Given the description of an element on the screen output the (x, y) to click on. 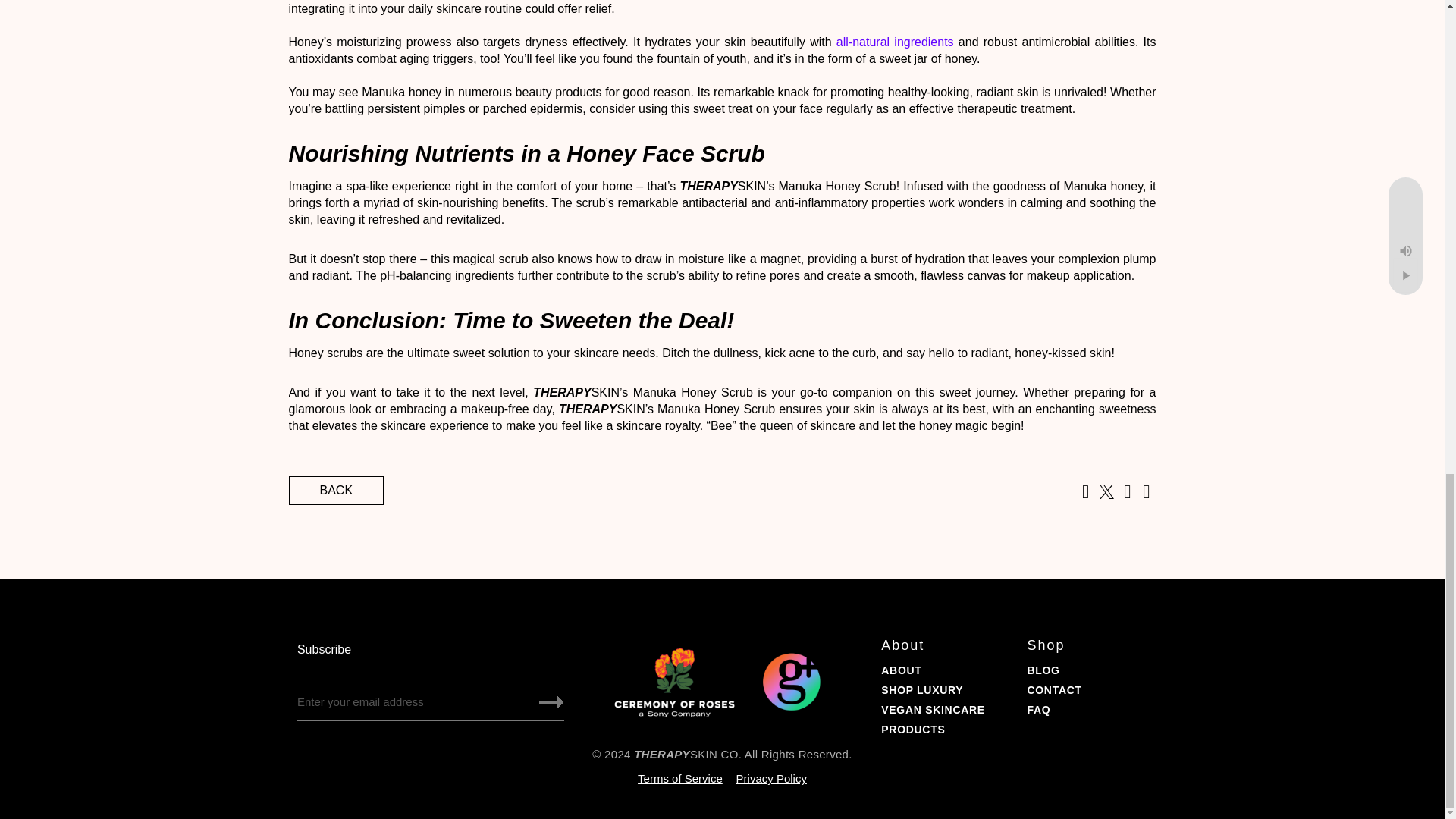
Send (550, 702)
Terms of Service (679, 778)
Share on LinkedIn (1127, 493)
BACK (336, 490)
Share on Facebook (1084, 493)
Share on Twitter (1106, 493)
Send (550, 702)
SHOP LUXURY VEGAN SKINCARE PRODUCTS (932, 709)
FAQ (1037, 709)
THERAPYSKIN CO. (687, 753)
